Given the description of an element on the screen output the (x, y) to click on. 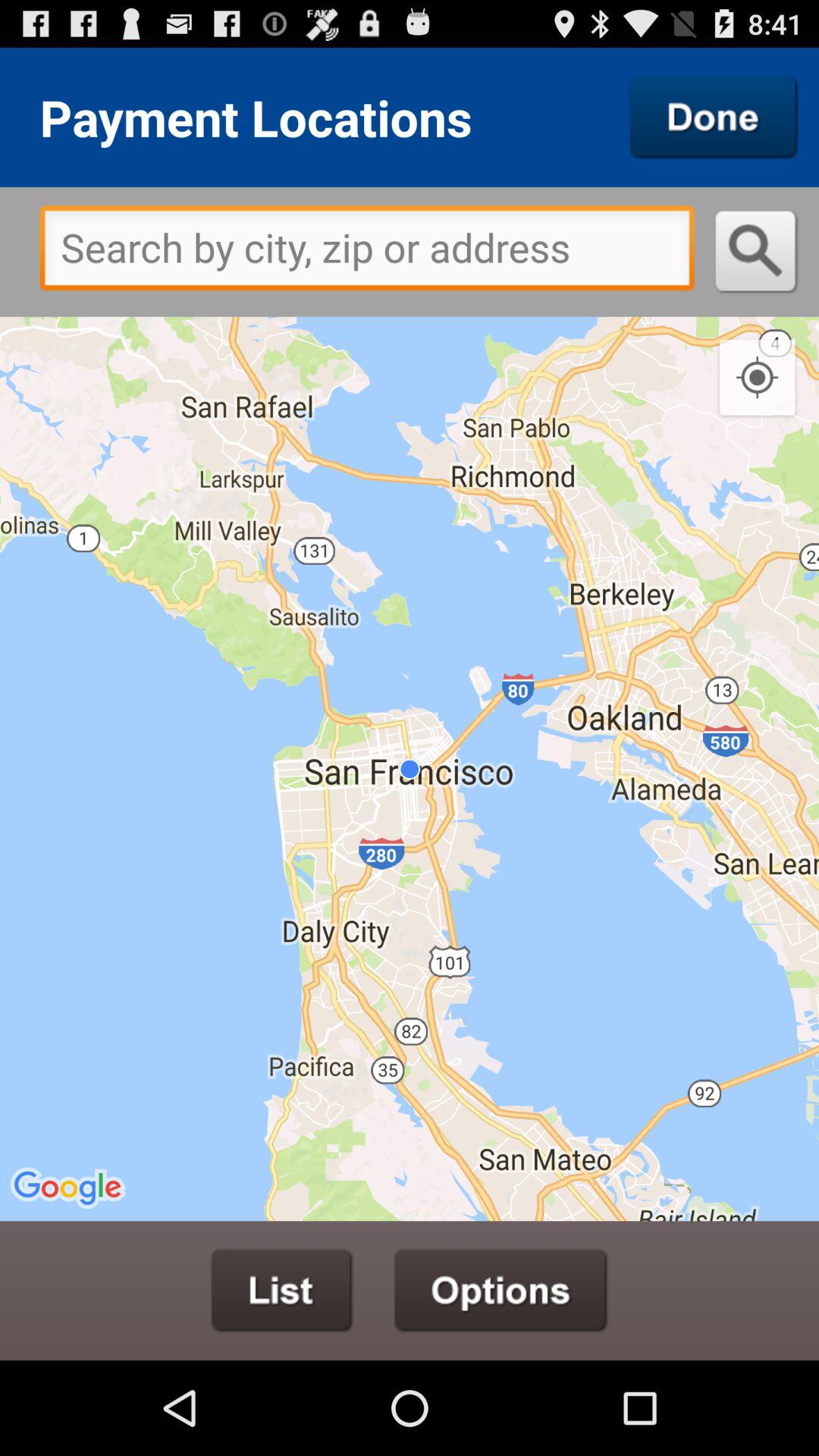
click item next to the payment locations (714, 117)
